Given the description of an element on the screen output the (x, y) to click on. 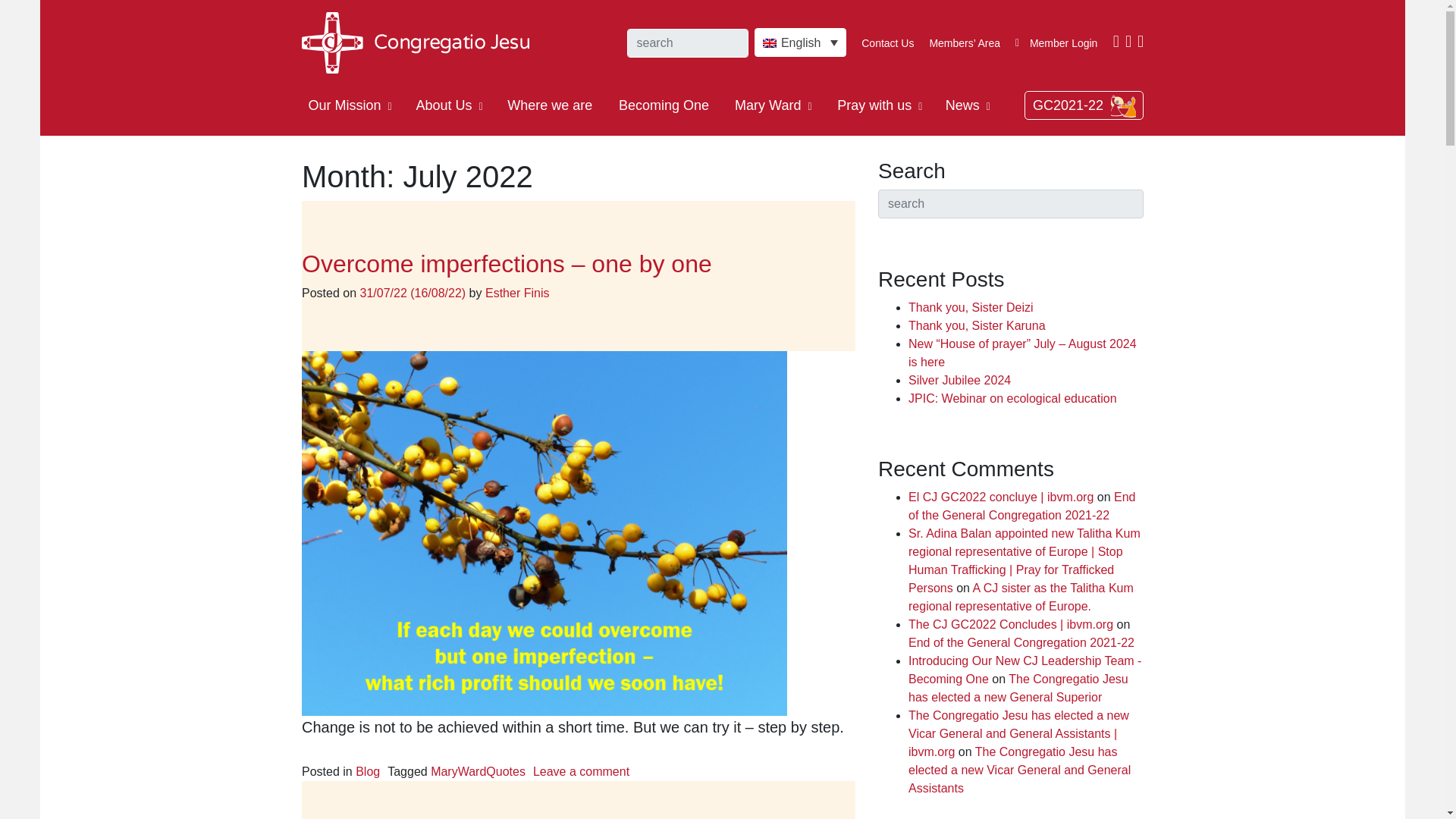
English (799, 41)
